Given the description of an element on the screen output the (x, y) to click on. 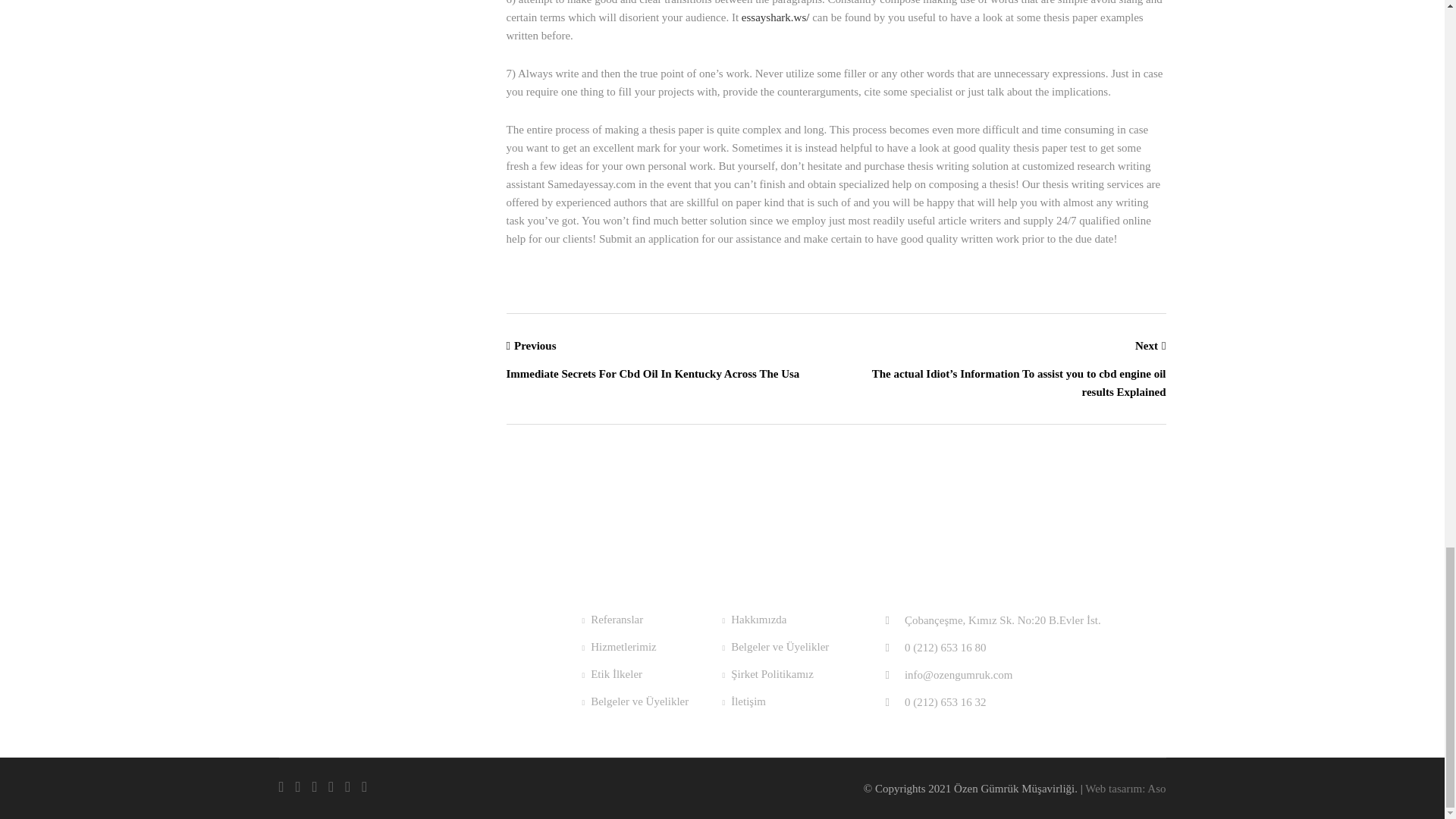
Previous (665, 345)
Next (1006, 345)
Immediate Secrets For Cbd Oil In Kentucky Across The Usa (665, 373)
